Given the description of an element on the screen output the (x, y) to click on. 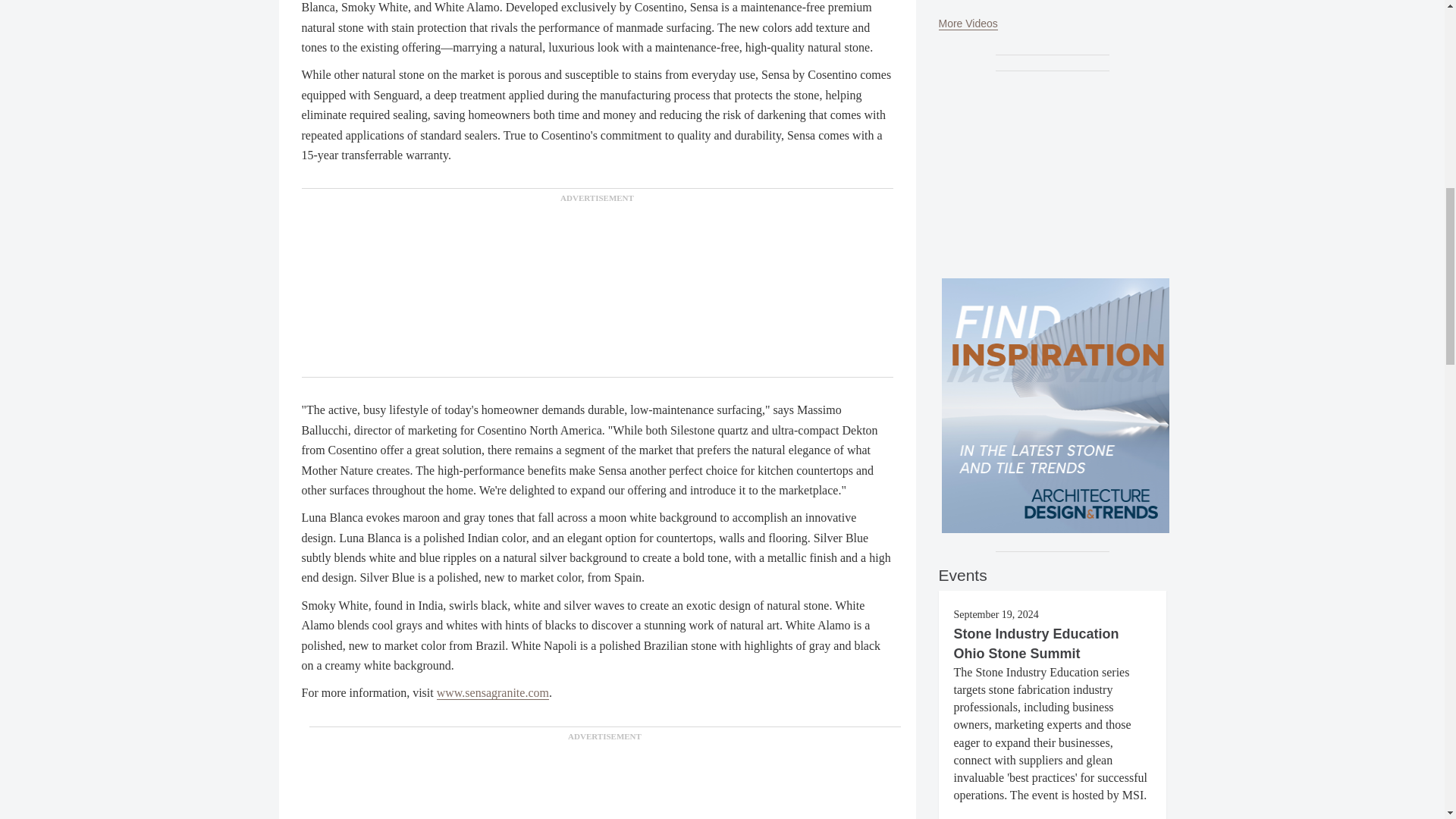
Stone Industry Education Ohio Stone Summit (1036, 643)
